Given the description of an element on the screen output the (x, y) to click on. 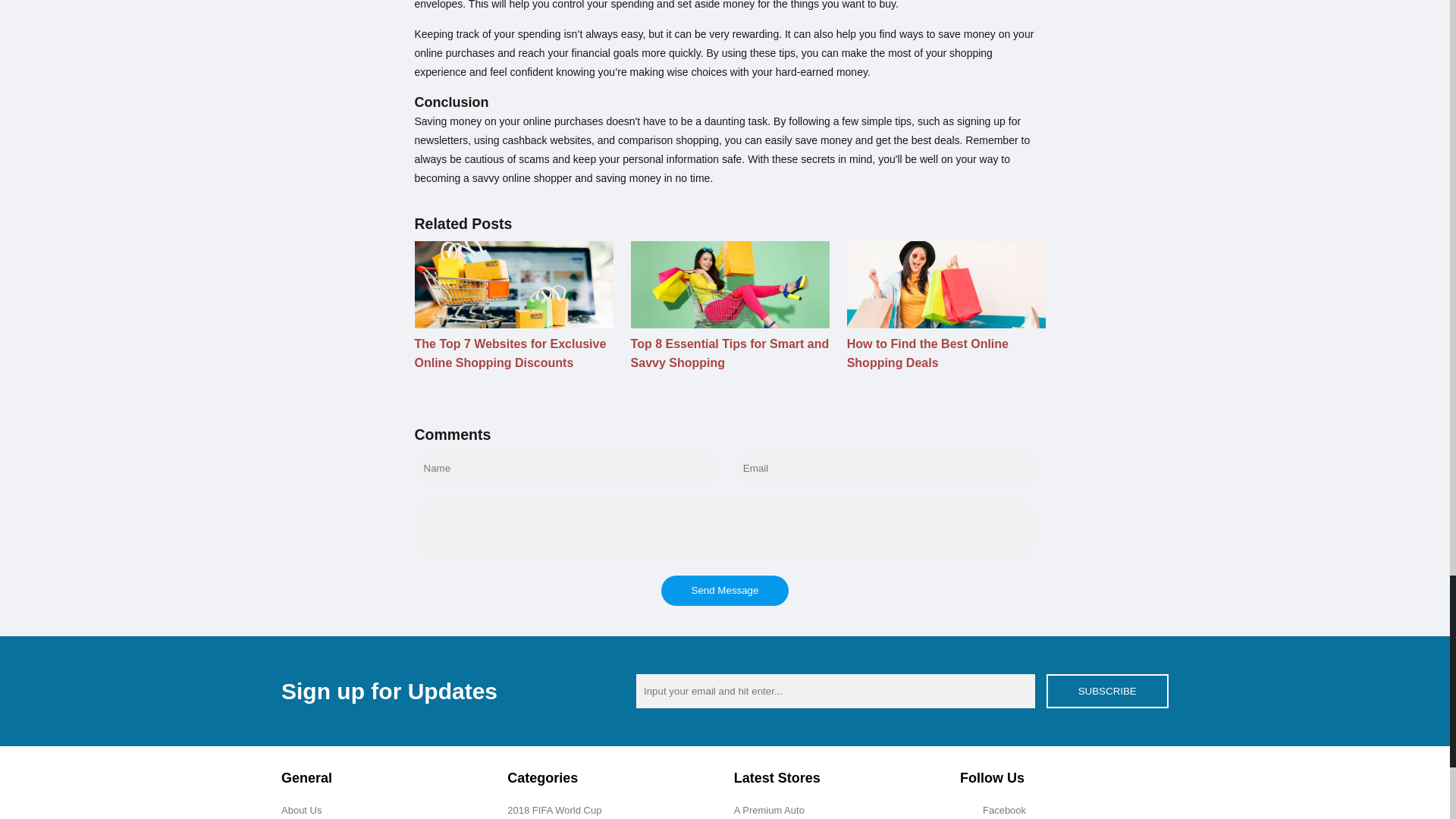
Send Message (725, 590)
Send Message (725, 590)
Subscribe (1107, 691)
A Premium Auto (769, 809)
2018 FIFA World Cup (553, 809)
Facebook (1004, 809)
The Top 7 Websites for Exclusive Online Shopping Discounts (512, 353)
How to Find the Best Online Shopping Deals (946, 353)
Subscribe (1107, 691)
About Us (301, 809)
